Given the description of an element on the screen output the (x, y) to click on. 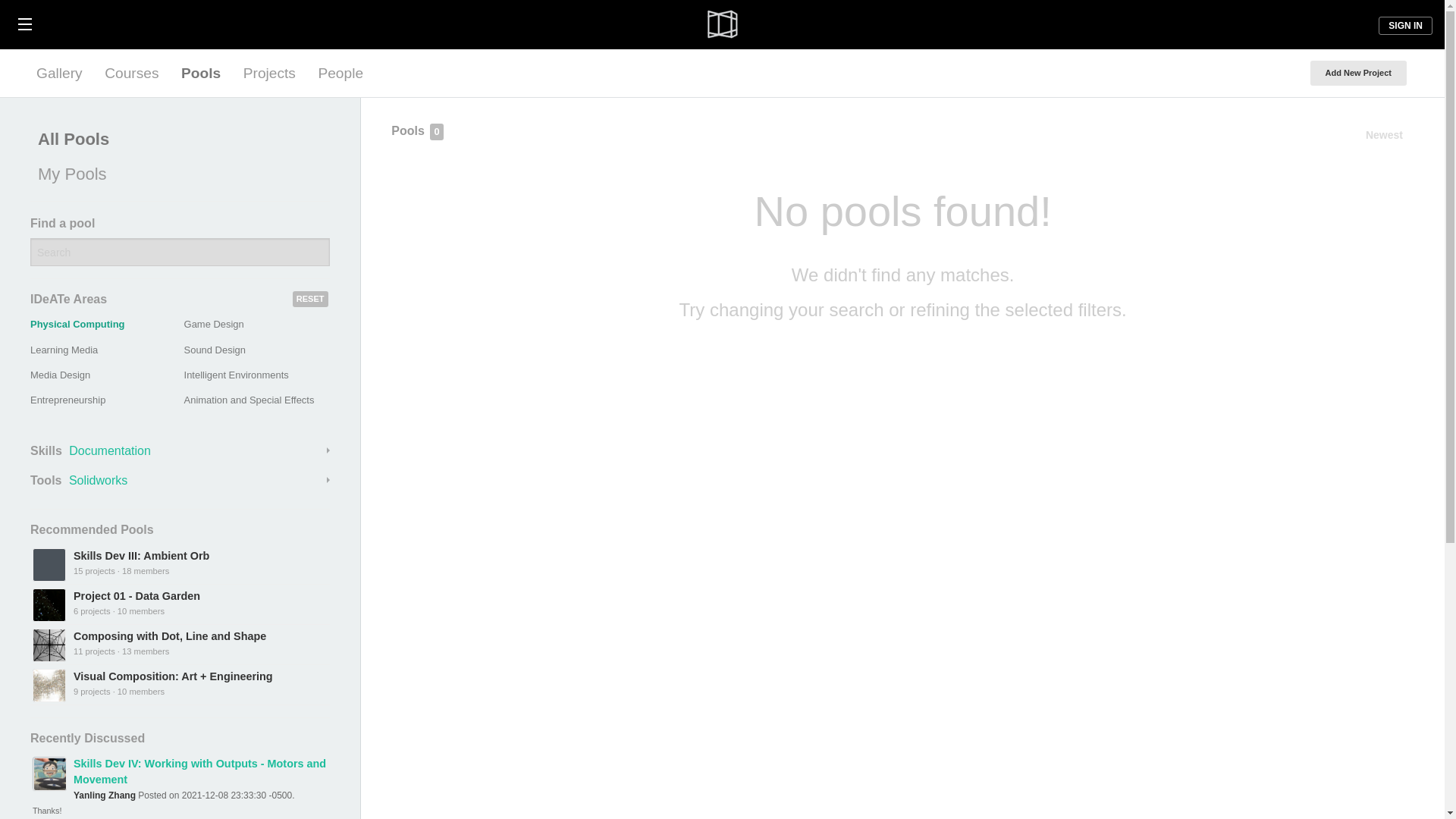
Game Design (214, 324)
RESET (310, 299)
Physical Computing (77, 324)
Media Design (60, 374)
Pools (200, 73)
Gallery (59, 73)
Intelligent Environments (236, 374)
All Pools (175, 139)
People (340, 73)
Courses (131, 73)
SIGN IN (1405, 25)
Entrepreneurship (67, 399)
Learning Media (63, 349)
My Pools (175, 174)
Projects (268, 73)
